Given the description of an element on the screen output the (x, y) to click on. 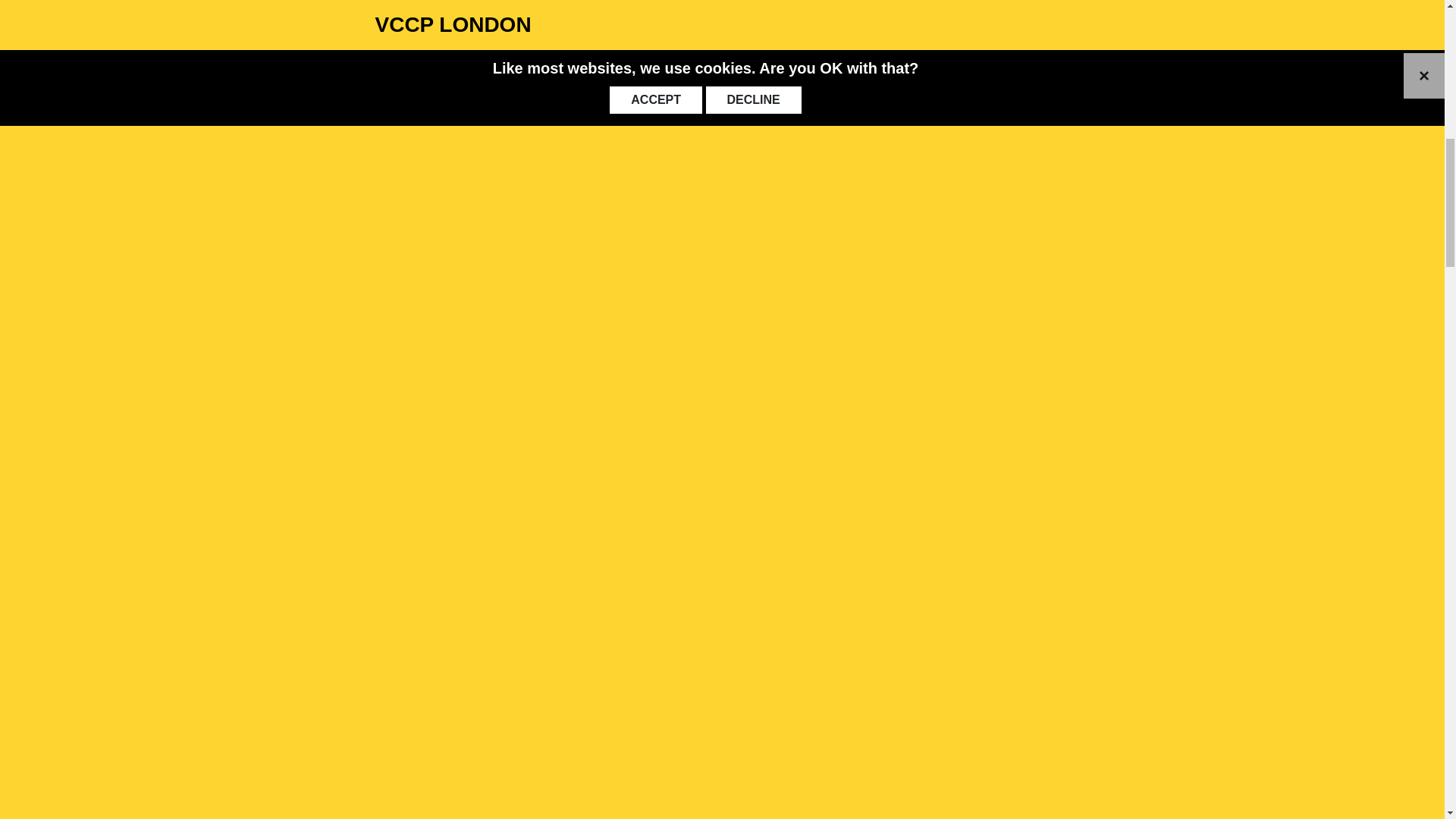
Cadbury (391, 8)
Production (649, 44)
FACEBOOK (978, 16)
LINKED IN (1057, 16)
Advertising, (598, 8)
TWITTER (1018, 16)
